Given the description of an element on the screen output the (x, y) to click on. 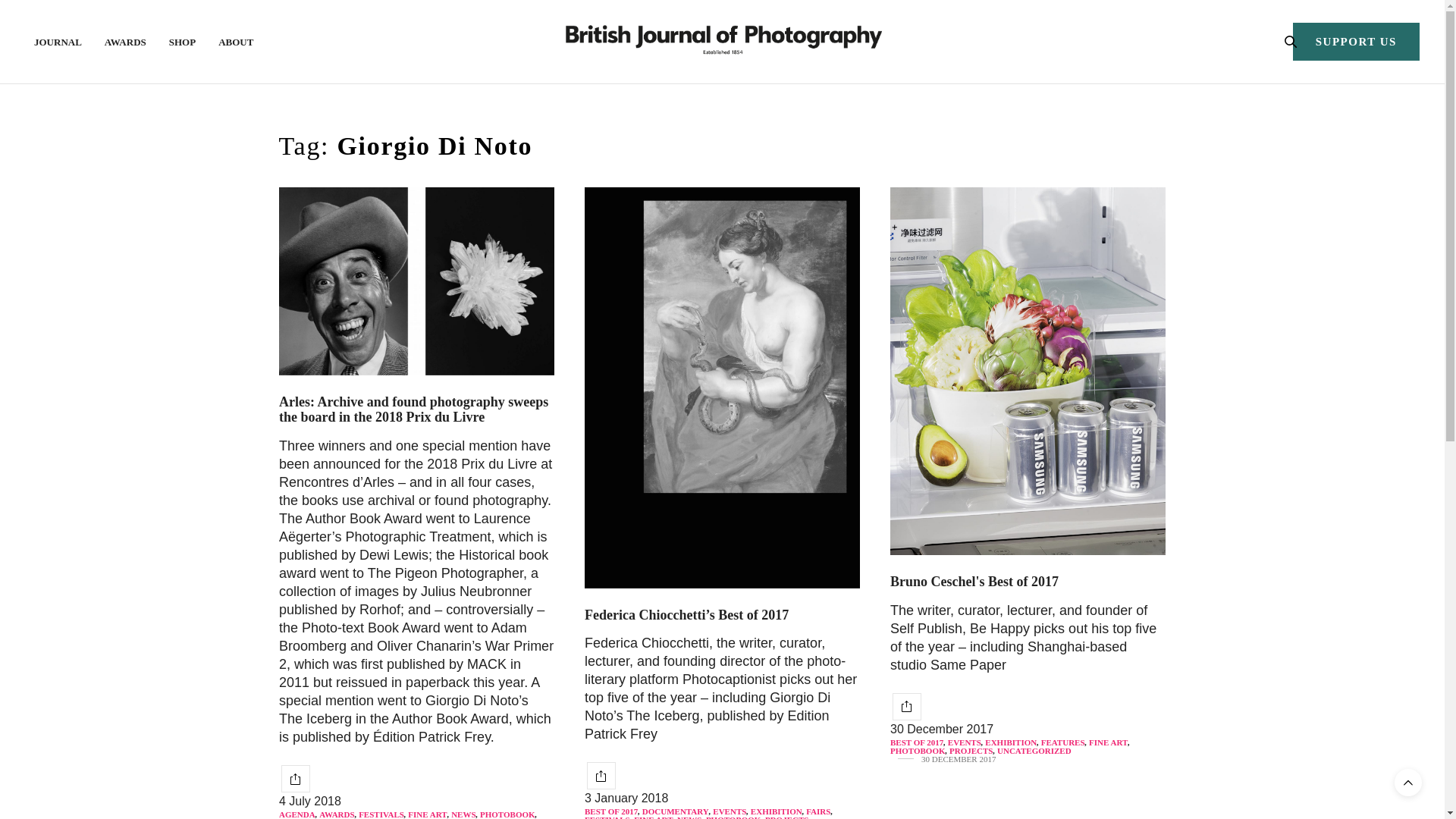
NEWS (463, 814)
SUPPORT US (1356, 41)
AWARDS (125, 41)
AWARDS (335, 814)
JOURNAL (57, 41)
AGENDA (297, 814)
PHOTOBOOK (507, 814)
FINE ART (426, 814)
ABOUT (235, 41)
FESTIVALS (381, 814)
Scroll To Top (1408, 782)
Bruno Ceschel's Best of 2017 (973, 581)
